Given the description of an element on the screen output the (x, y) to click on. 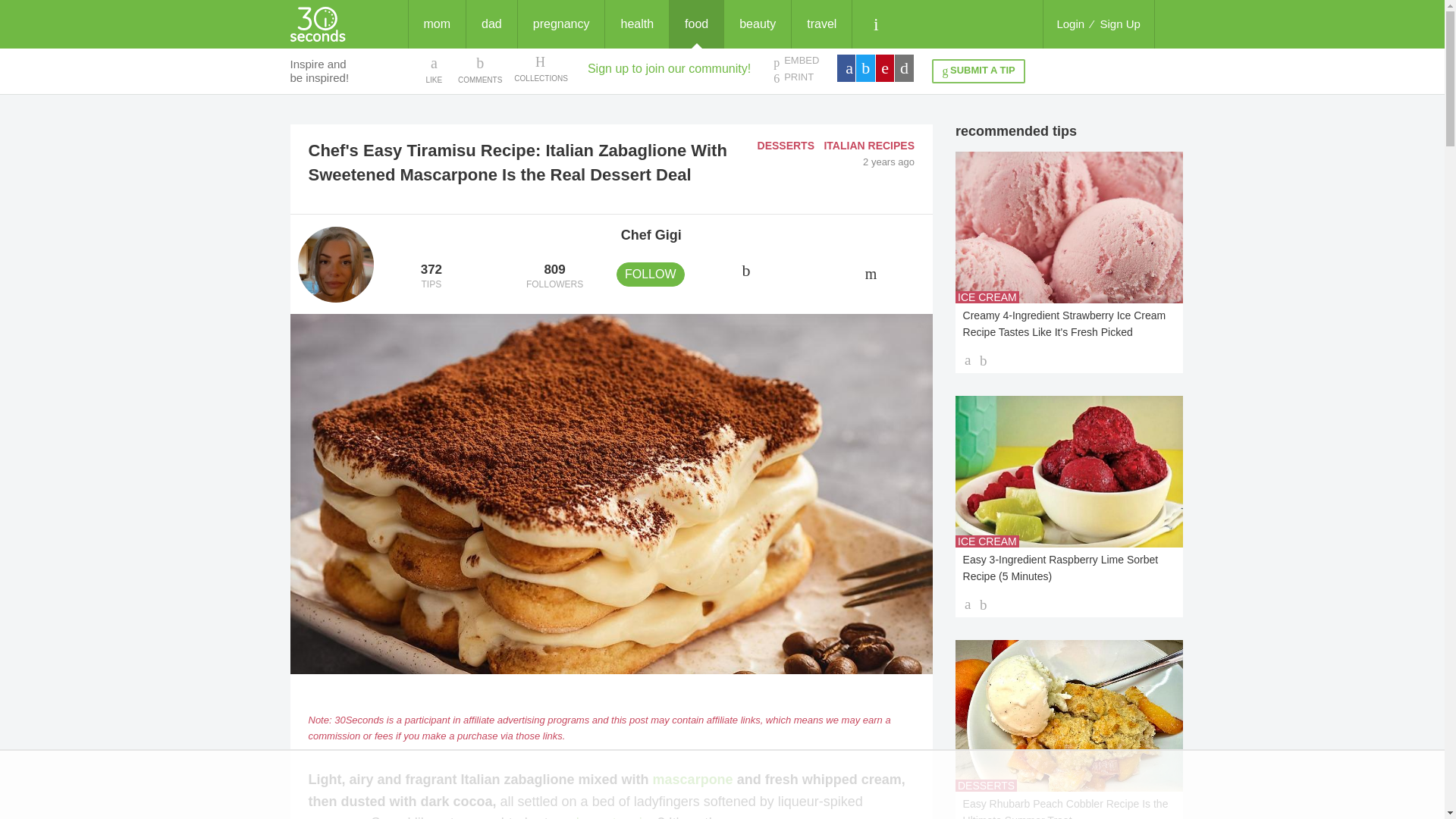
mom (436, 24)
food (696, 24)
travel (821, 24)
SUBMIT A TIP (554, 276)
EMBED (978, 70)
health (795, 61)
Login (636, 24)
beauty (1069, 23)
Chef Gigi (756, 24)
